Given the description of an element on the screen output the (x, y) to click on. 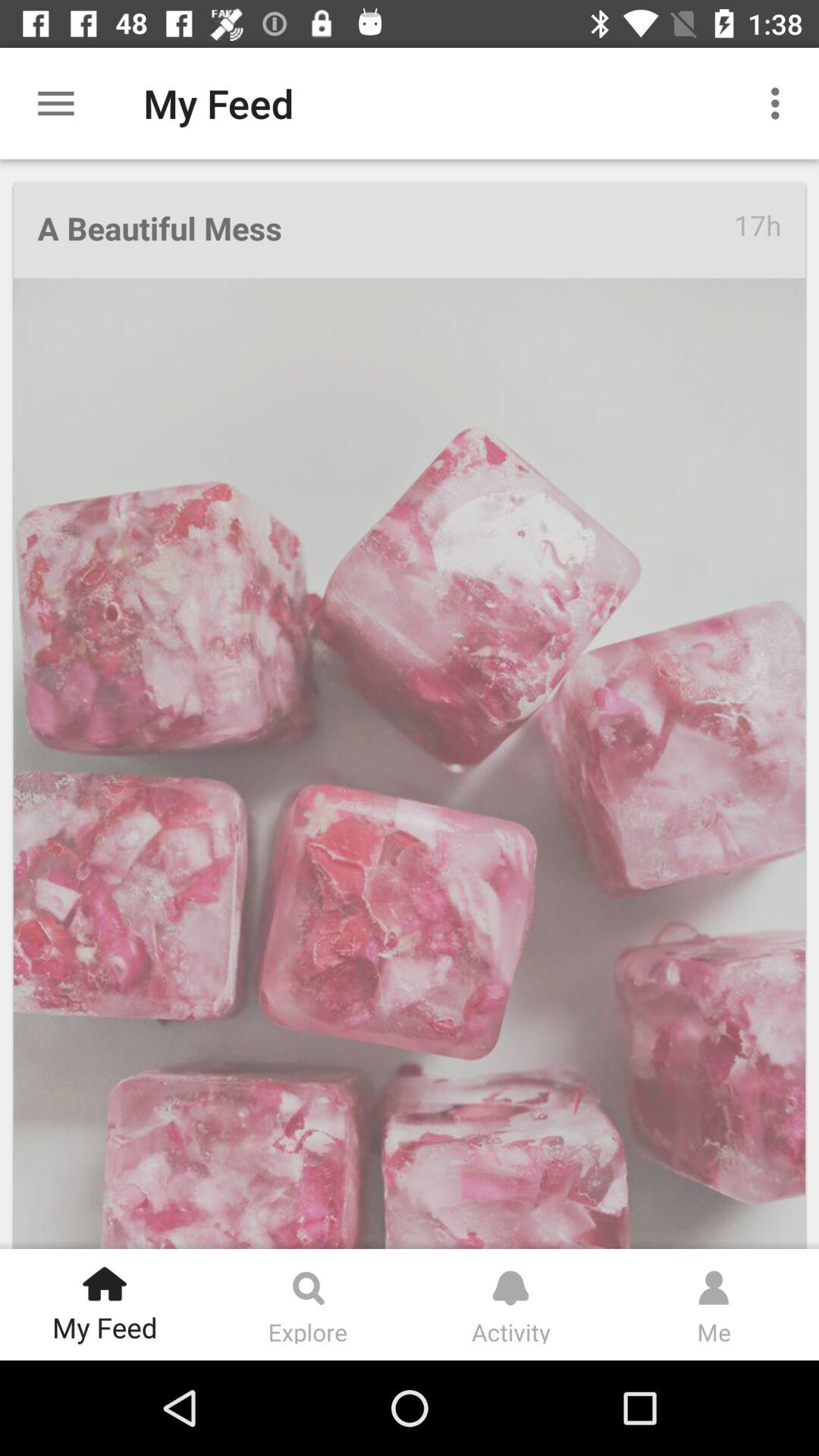
choose item next to my feed (55, 103)
